Given the description of an element on the screen output the (x, y) to click on. 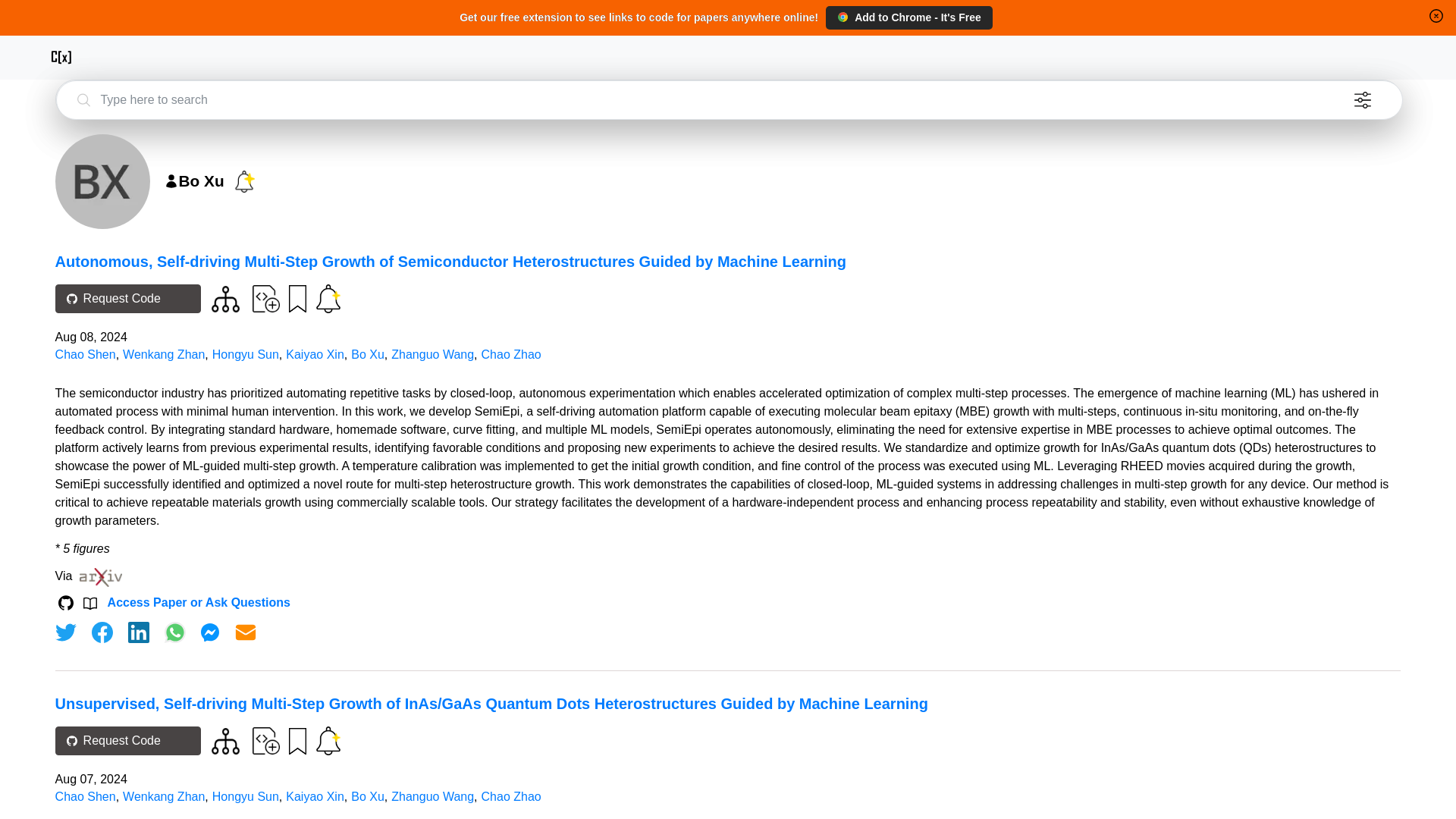
Chao Zhao (511, 354)
Chao Zhao (511, 796)
Request Code (127, 740)
Access Paper or Ask Questions (198, 602)
Kaiyao Xin (314, 354)
Zhanguo Wang (432, 354)
Wenkang Zhan (163, 796)
View code for similar papers (225, 741)
Bo Xu (367, 354)
